Given the description of an element on the screen output the (x, y) to click on. 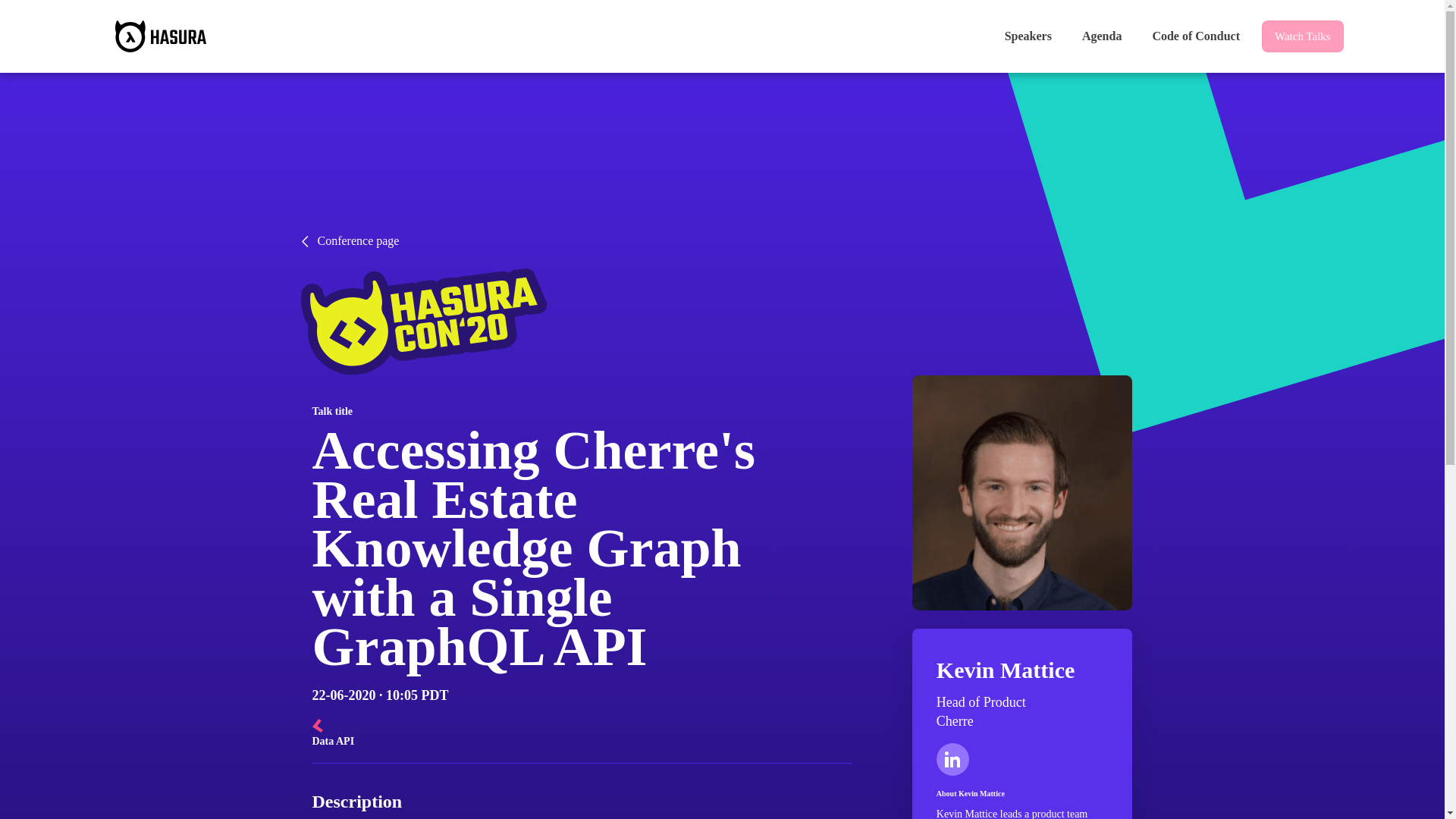
Watch Talks (1302, 35)
Agenda (1101, 35)
Hasura Logo (160, 35)
Conference page (720, 240)
Cherre (955, 720)
Code of Conduct (1195, 35)
Speakers (1027, 35)
Watch Talks (1302, 36)
